Given the description of an element on the screen output the (x, y) to click on. 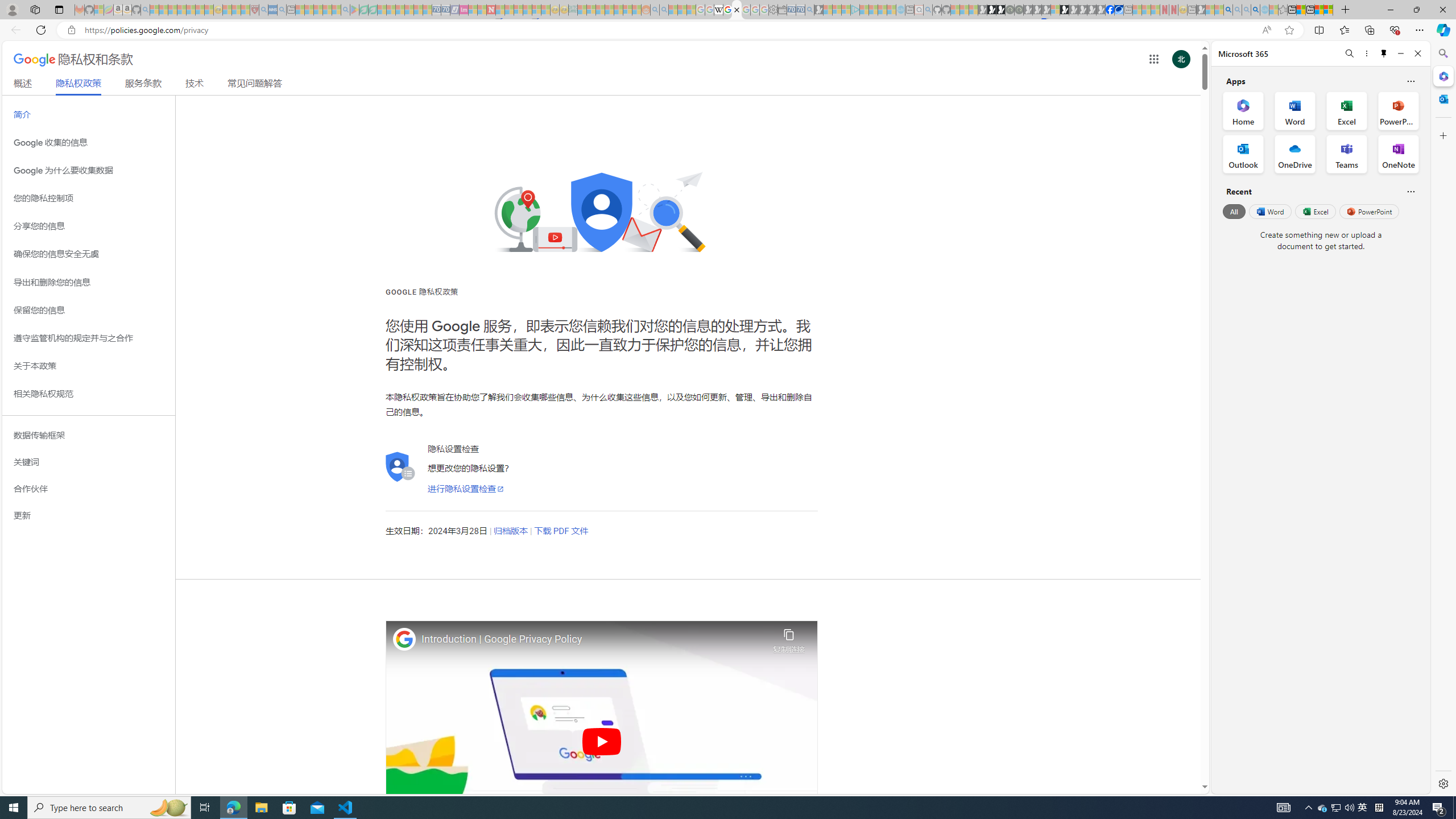
Class: gb_E (1153, 59)
Outlook Office App (1243, 154)
